Given the description of an element on the screen output the (x, y) to click on. 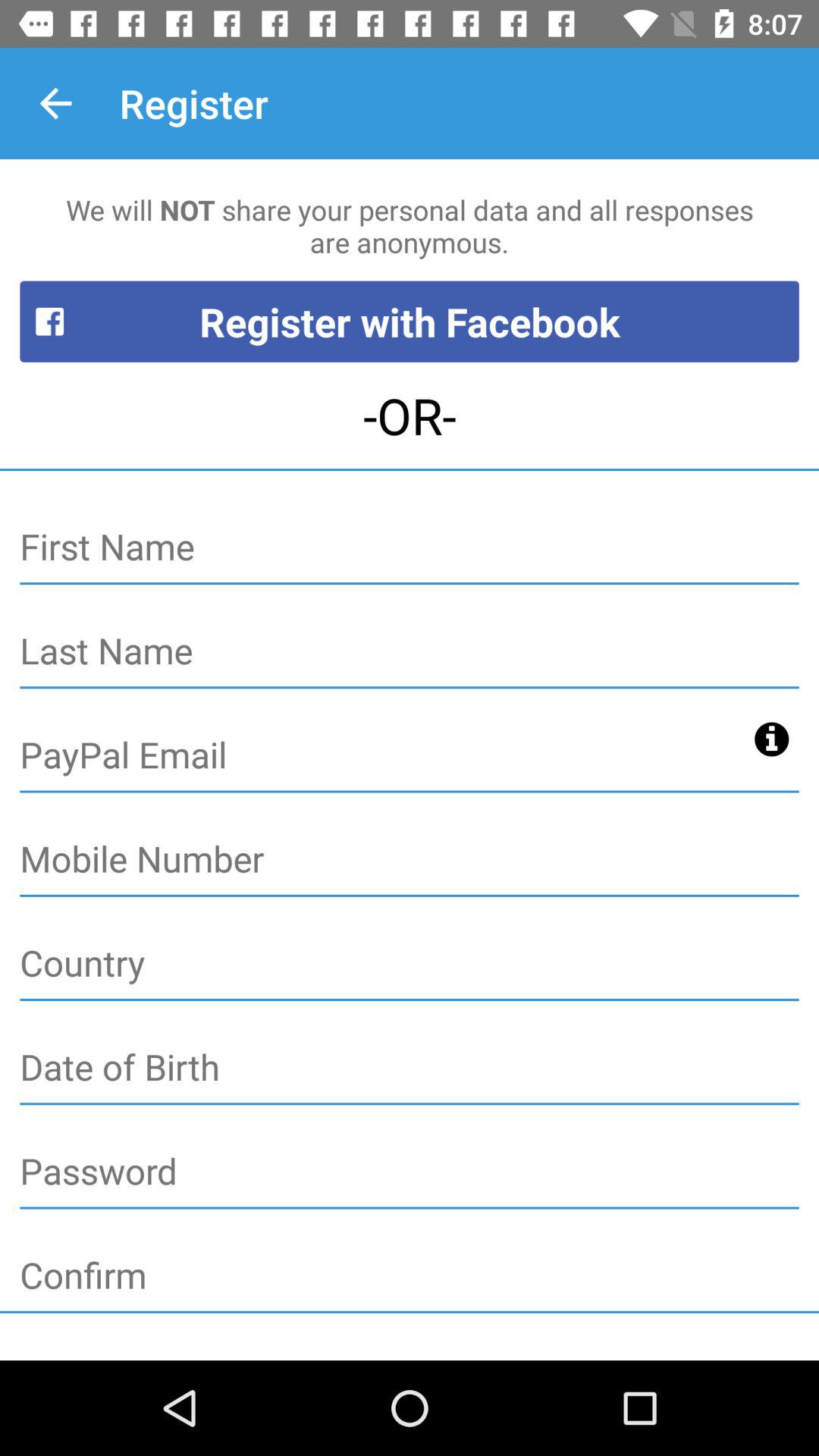
last name (409, 651)
